Given the description of an element on the screen output the (x, y) to click on. 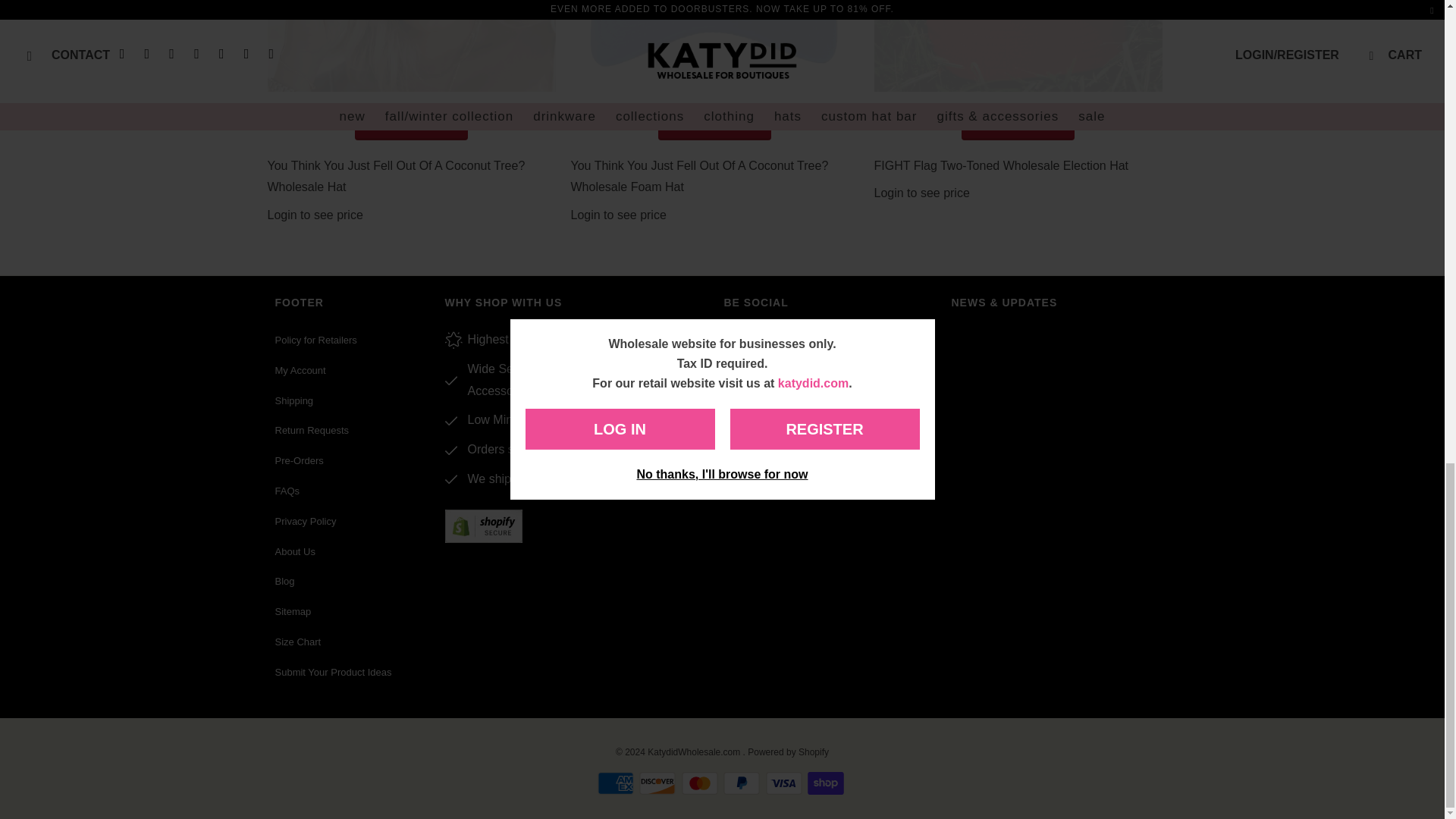
Visa (785, 783)
American Express (616, 783)
Mastercard (700, 783)
PayPal (742, 783)
Add to cart (411, 123)
Add to cart (1017, 123)
Discover (658, 783)
Shop Pay (827, 783)
Add to cart (714, 123)
